Given the description of an element on the screen output the (x, y) to click on. 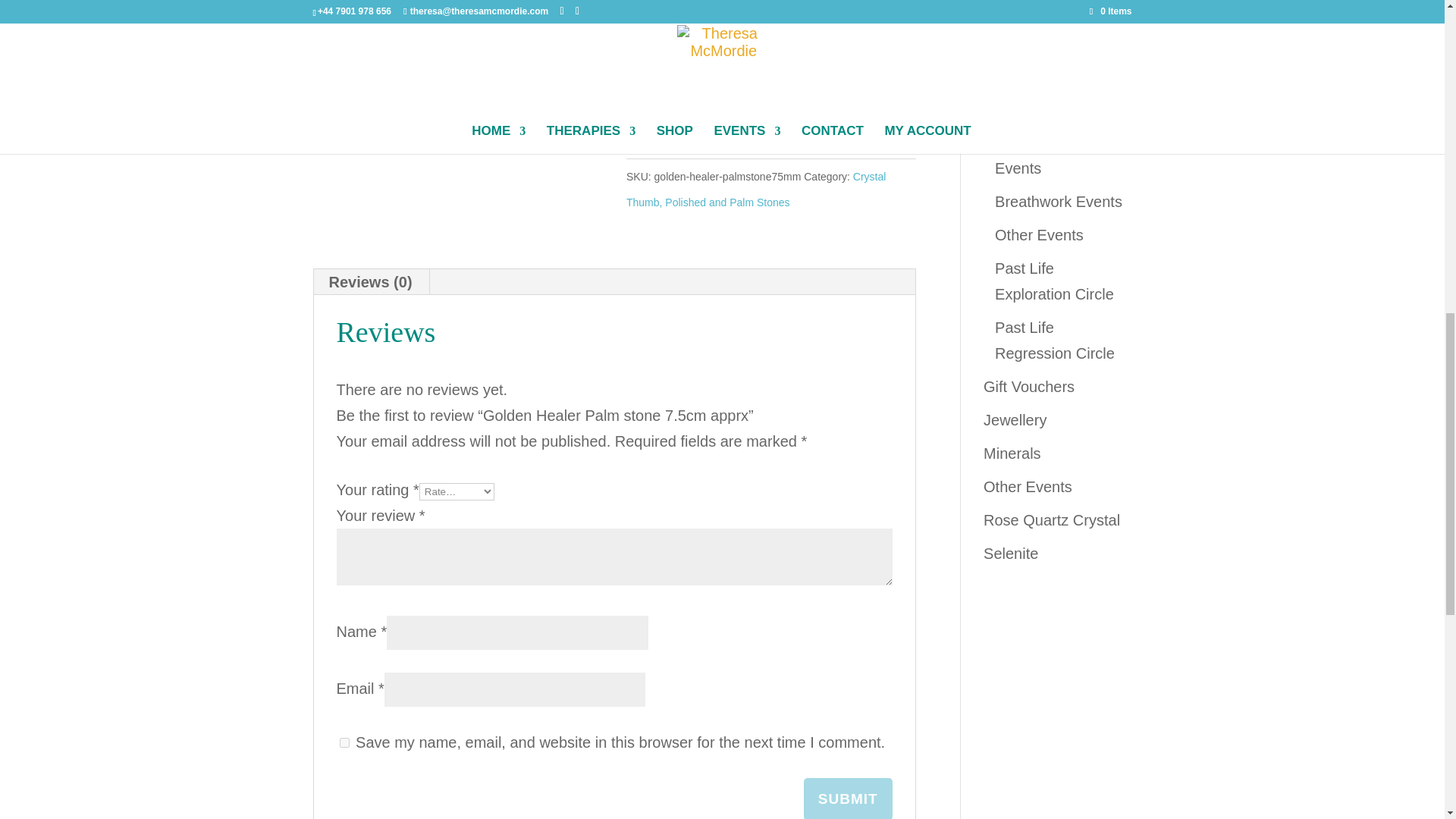
Submit (847, 798)
Submit (847, 798)
1 (648, 107)
Crystal Thumb, Polished and Palm Stones (755, 189)
ADD TO BASKET (765, 102)
yes (344, 742)
